Given the description of an element on the screen output the (x, y) to click on. 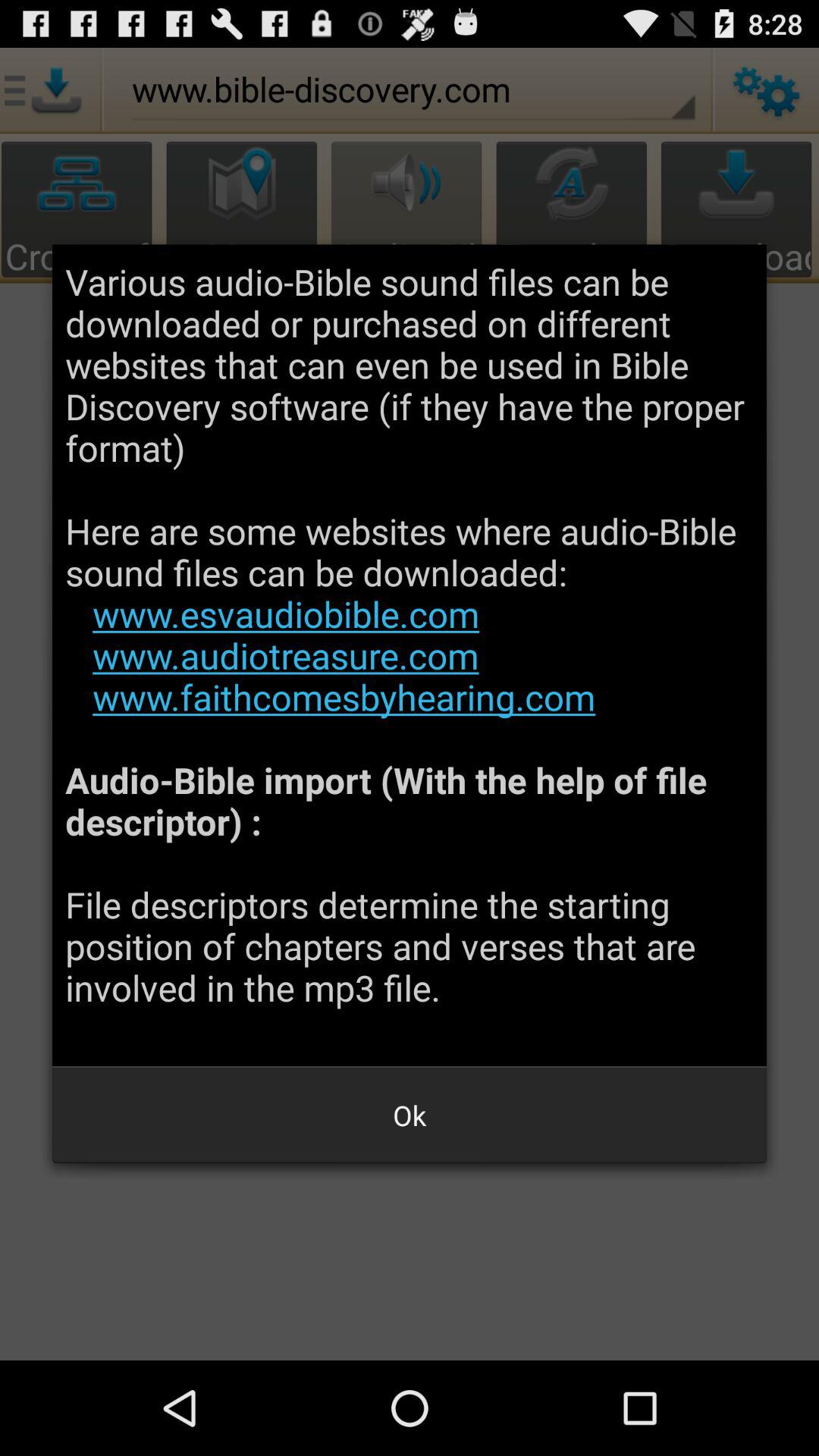
jump to the ok (409, 1115)
